Given the description of an element on the screen output the (x, y) to click on. 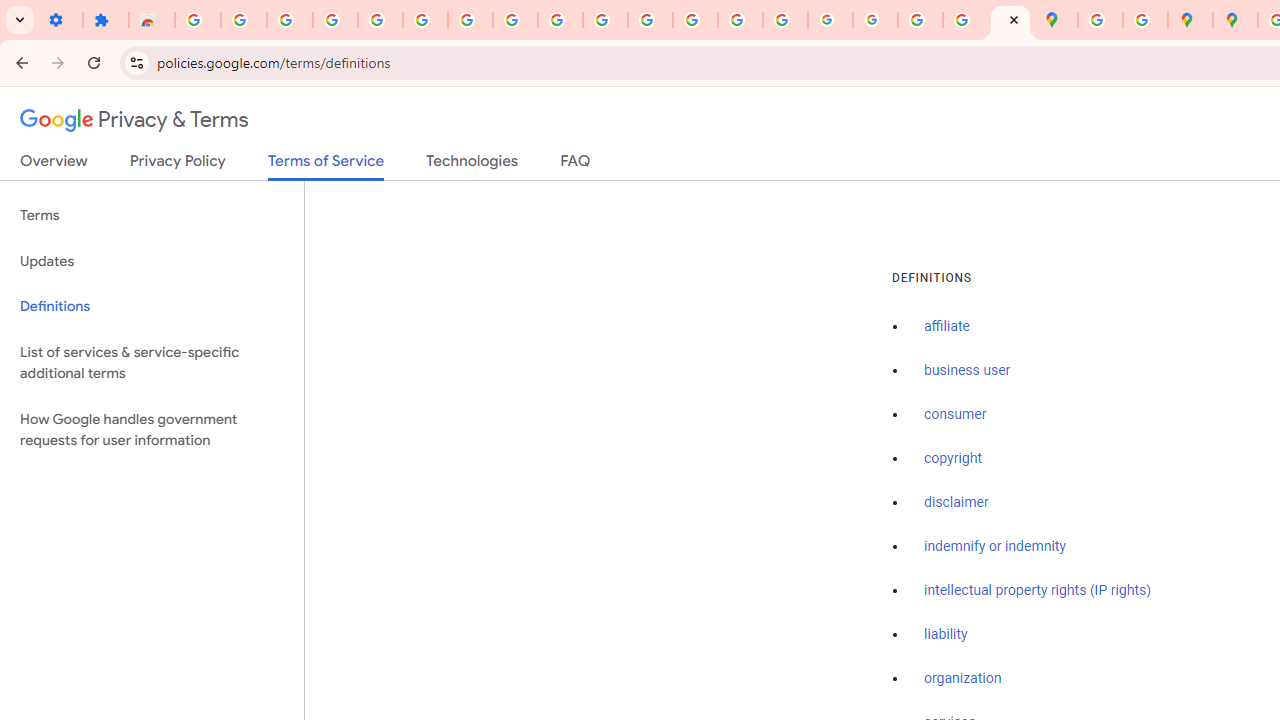
Sign in - Google Accounts (425, 20)
Delete photos & videos - Computer - Google Photos Help (290, 20)
FAQ (575, 165)
Google Maps (1055, 20)
intellectual property rights (IP rights) (1038, 590)
Terms of Service (326, 166)
View site information (136, 62)
organization (963, 679)
